Given the description of an element on the screen output the (x, y) to click on. 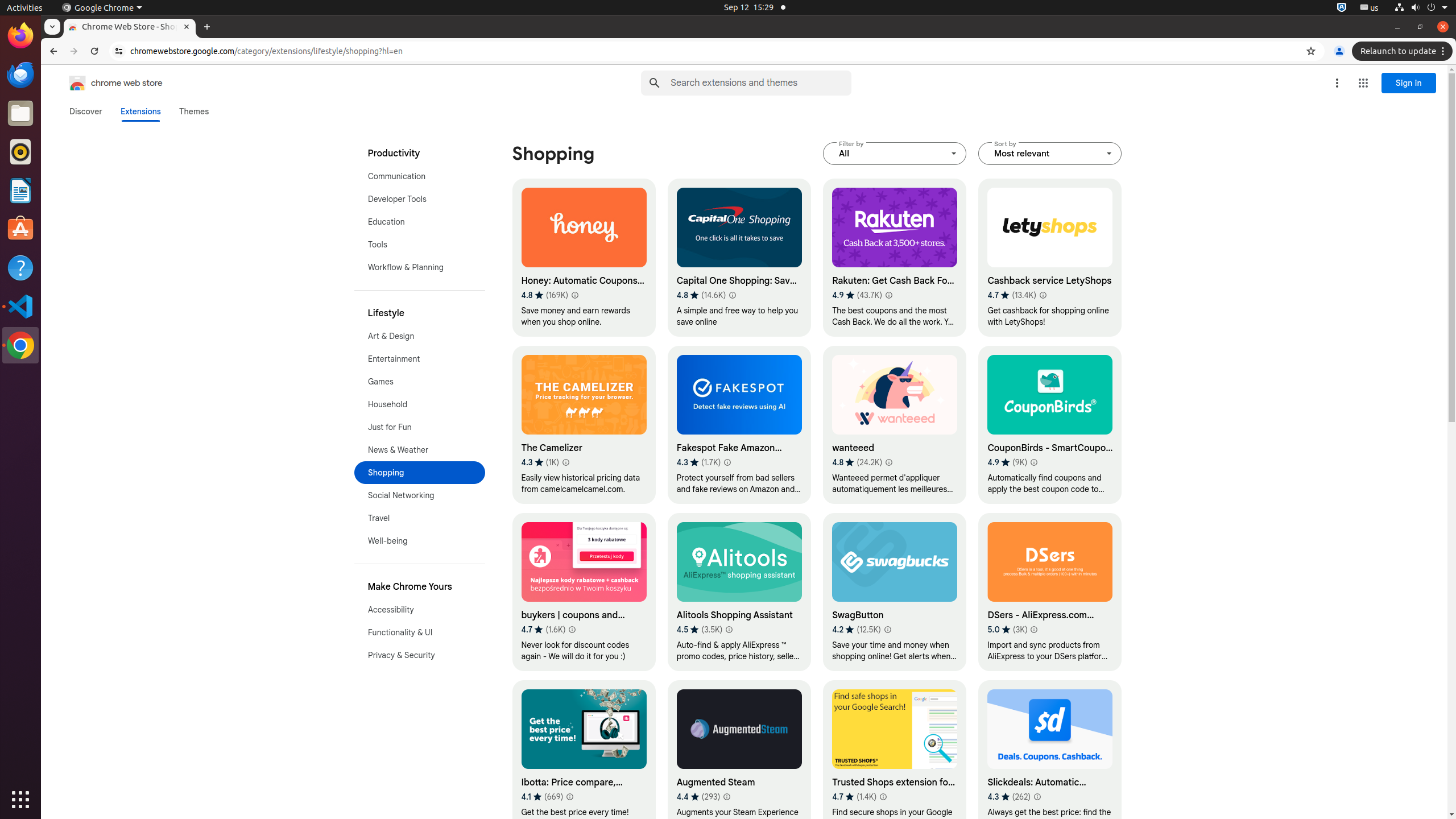
Education Element type: menu-item (419, 221)
Sign in Element type: link (1408, 82)
More options menu Element type: push-button (1336, 82)
Google Chrome Element type: push-button (20, 344)
Shopping (selected) Element type: menu-item (419, 472)
